Given the description of an element on the screen output the (x, y) to click on. 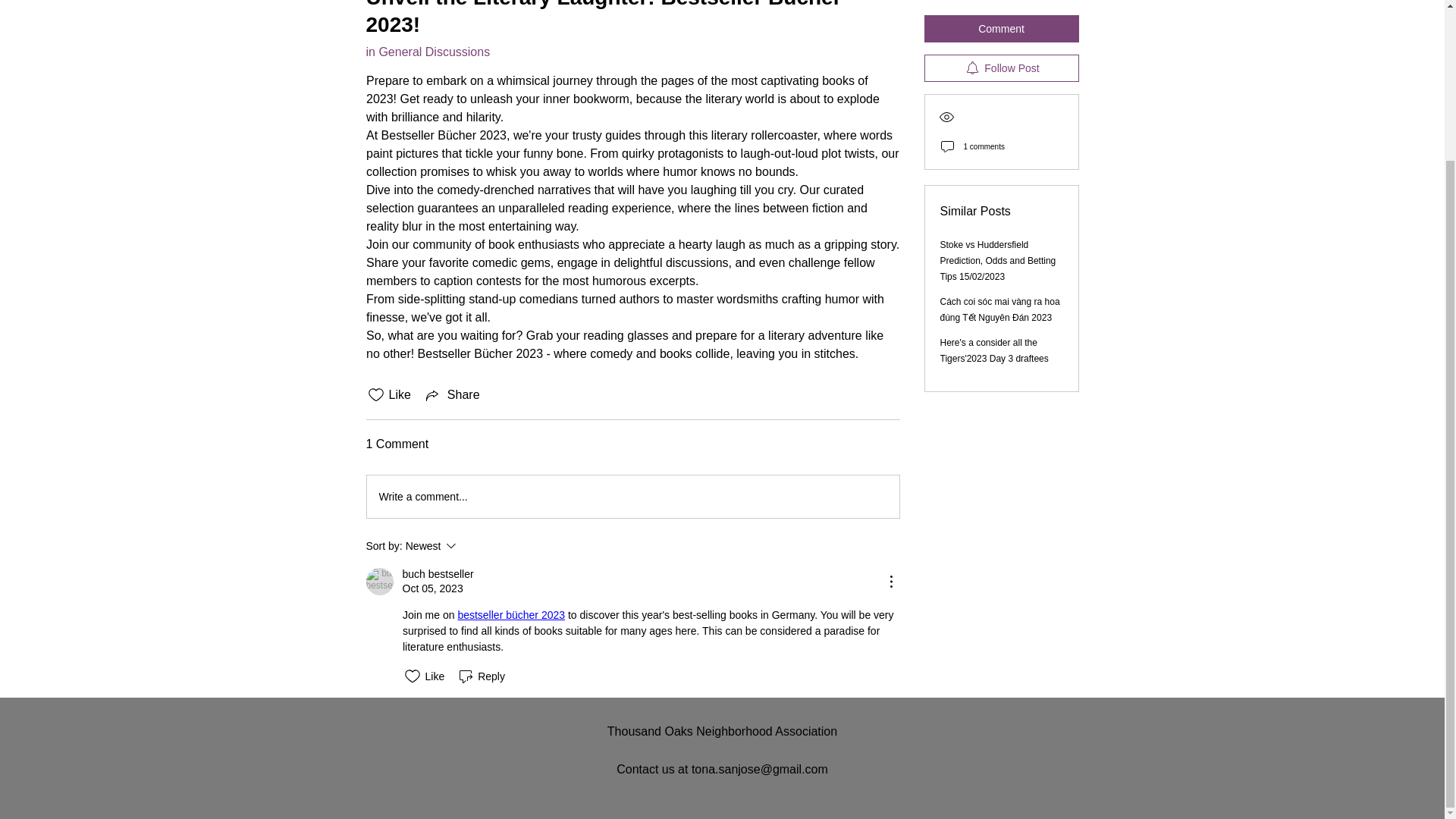
buch bestseller (437, 574)
in General Discussions (427, 51)
Here's a consider all the Tigers'2023 Day 3 draftees (471, 546)
Write a comment... (994, 274)
Share (632, 496)
Follow Post (451, 394)
buch bestseller (1000, 2)
Reply (379, 581)
